Given the description of an element on the screen output the (x, y) to click on. 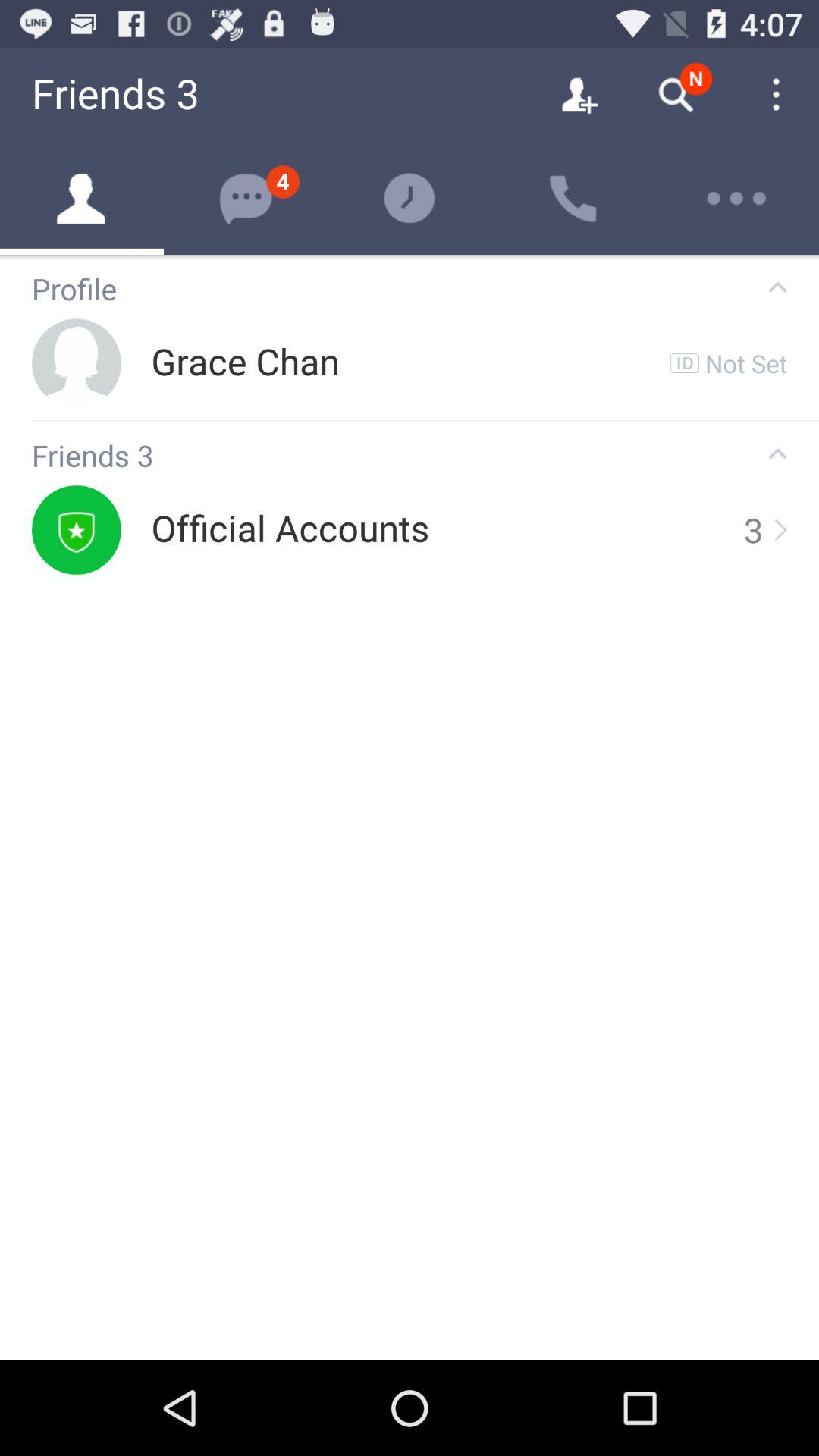
turn on icon below profile app (245, 362)
